Given the description of an element on the screen output the (x, y) to click on. 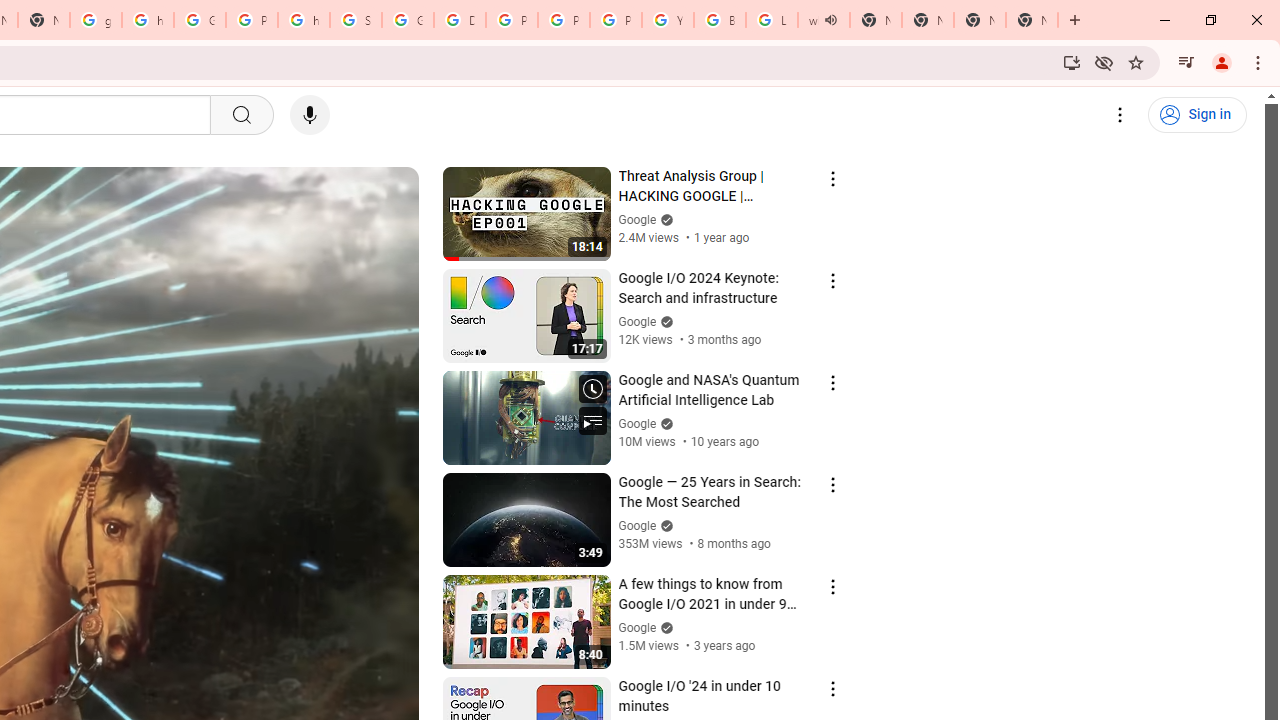
Third-party cookies blocked (1103, 62)
New Tab (979, 20)
https://scholar.google.com/ (303, 20)
Sign in - Google Accounts (355, 20)
Control your music, videos, and more (1185, 62)
Verified (664, 627)
Action menu (832, 688)
Browse Chrome as a guest - Computer - Google Chrome Help (719, 20)
